Given the description of an element on the screen output the (x, y) to click on. 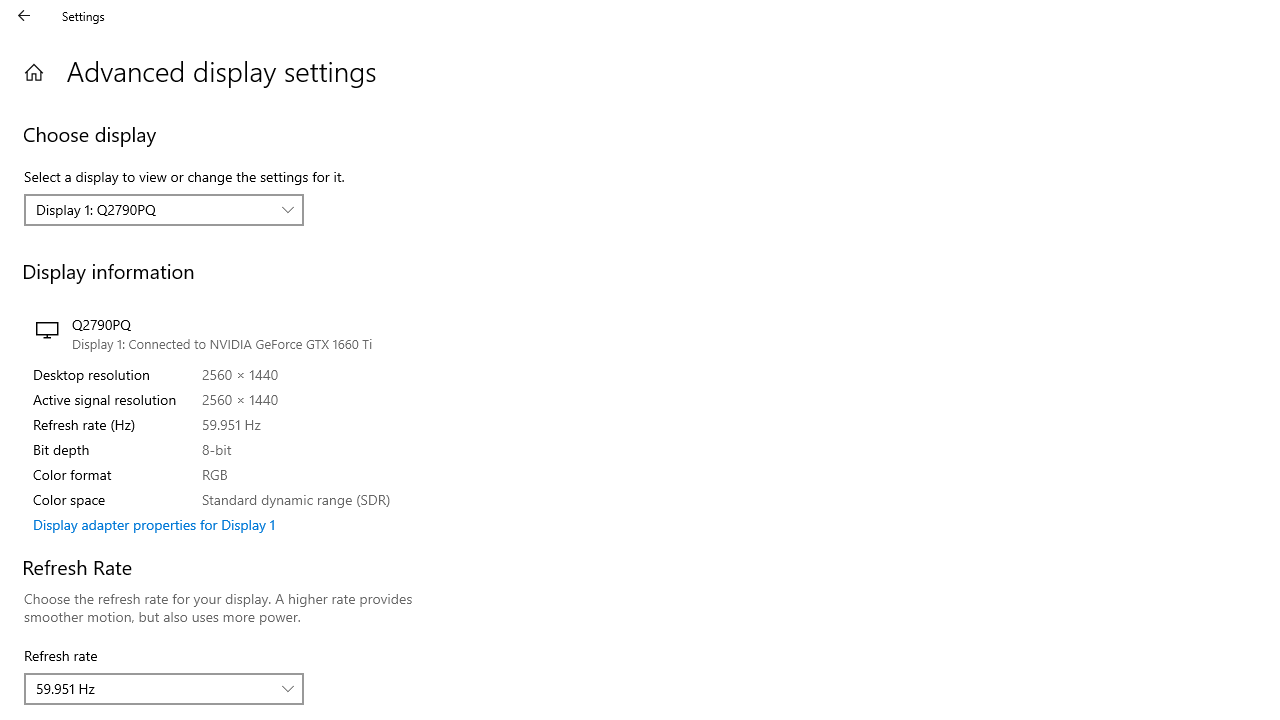
59.951 Hz (153, 687)
Home (33, 71)
Display 1: Q2790PQ (153, 209)
Select a display to view or change the settings for it. (164, 209)
Refresh rate (164, 688)
Back (24, 15)
Display adapter properties for Display 1 (154, 524)
